Given the description of an element on the screen output the (x, y) to click on. 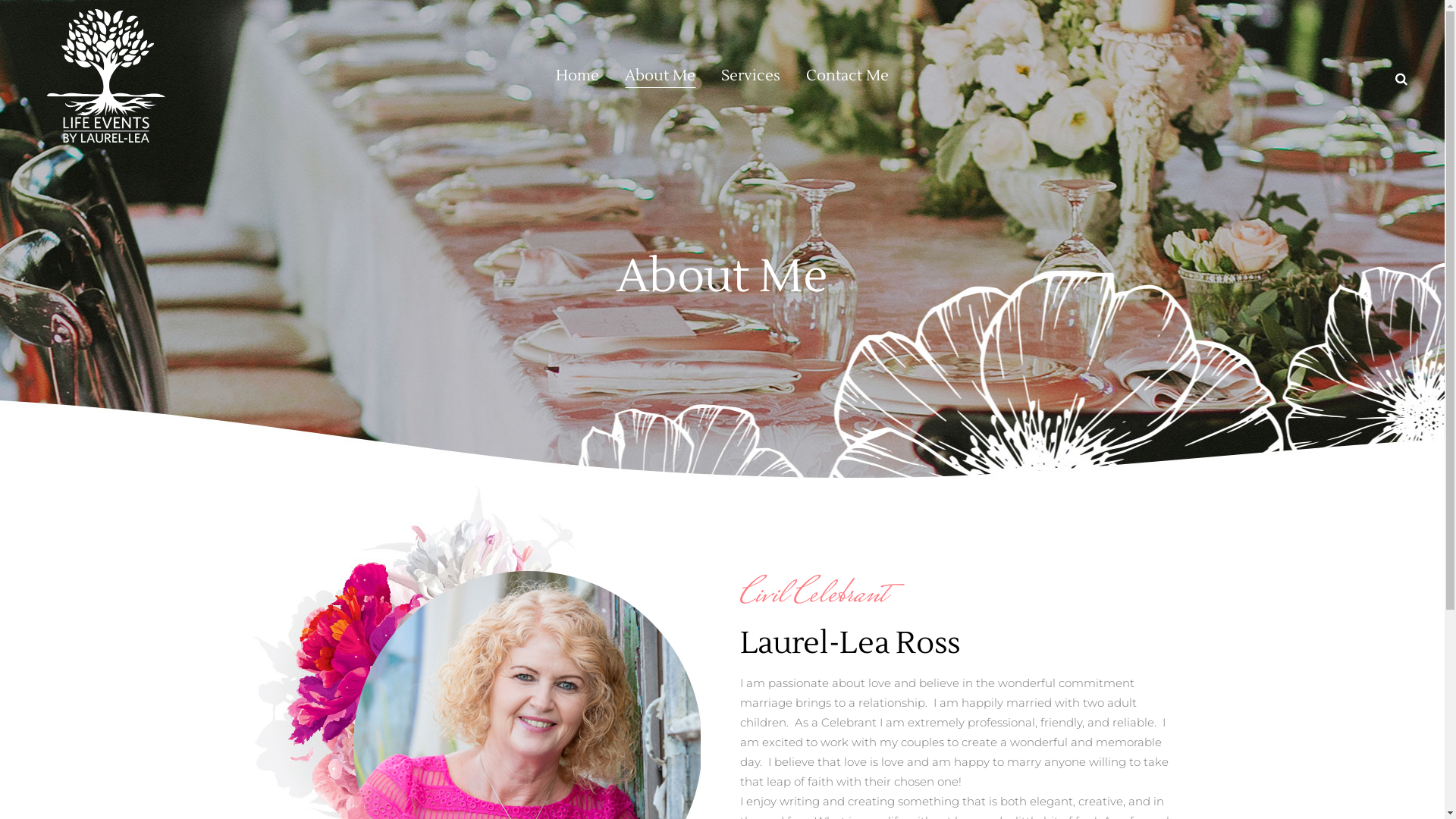
Services Element type: text (750, 75)
About Me Element type: text (659, 75)
Home Element type: text (576, 75)
Contact Me Element type: text (847, 75)
